Given the description of an element on the screen output the (x, y) to click on. 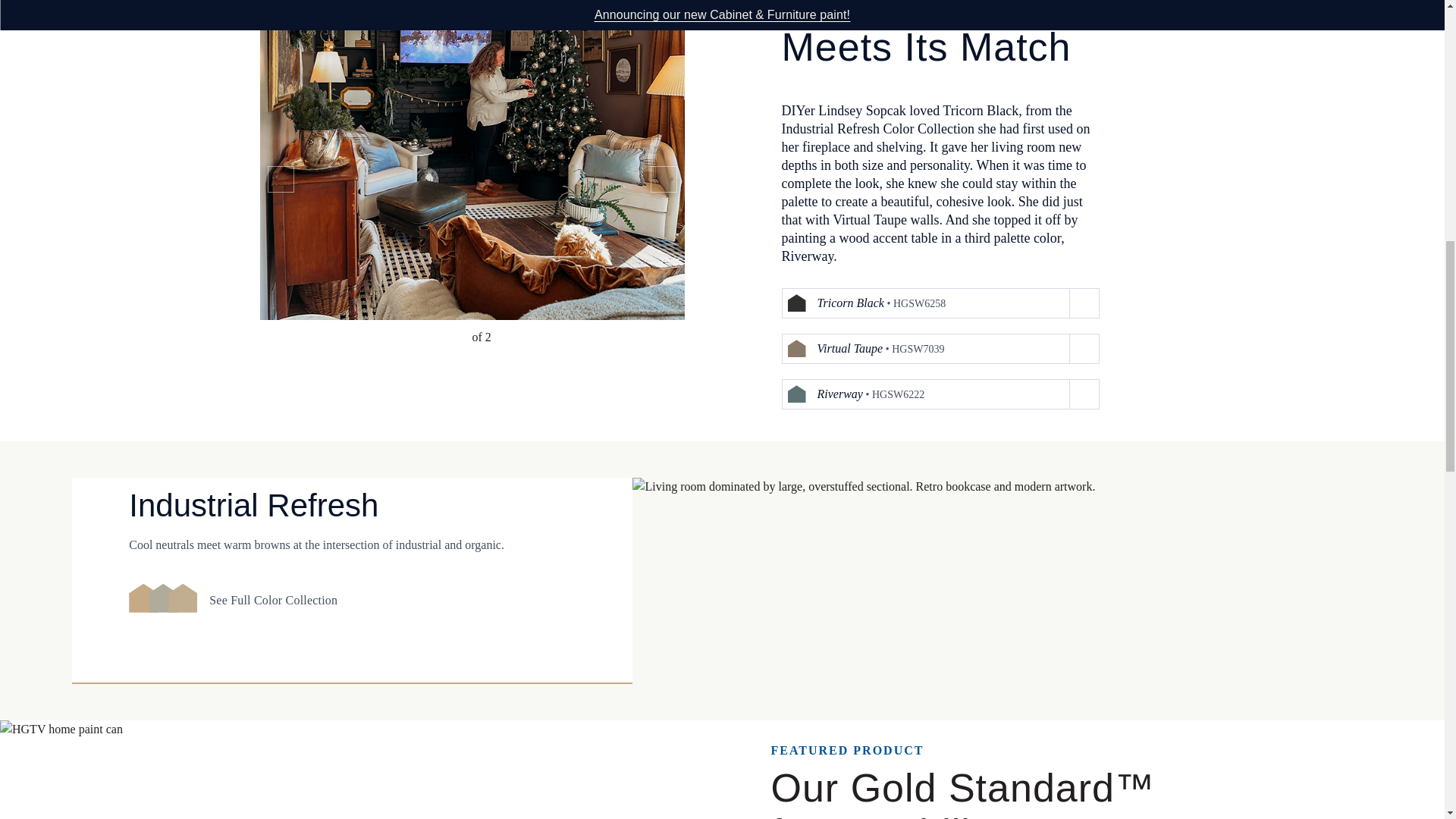
Previous (280, 179)
